Given the description of an element on the screen output the (x, y) to click on. 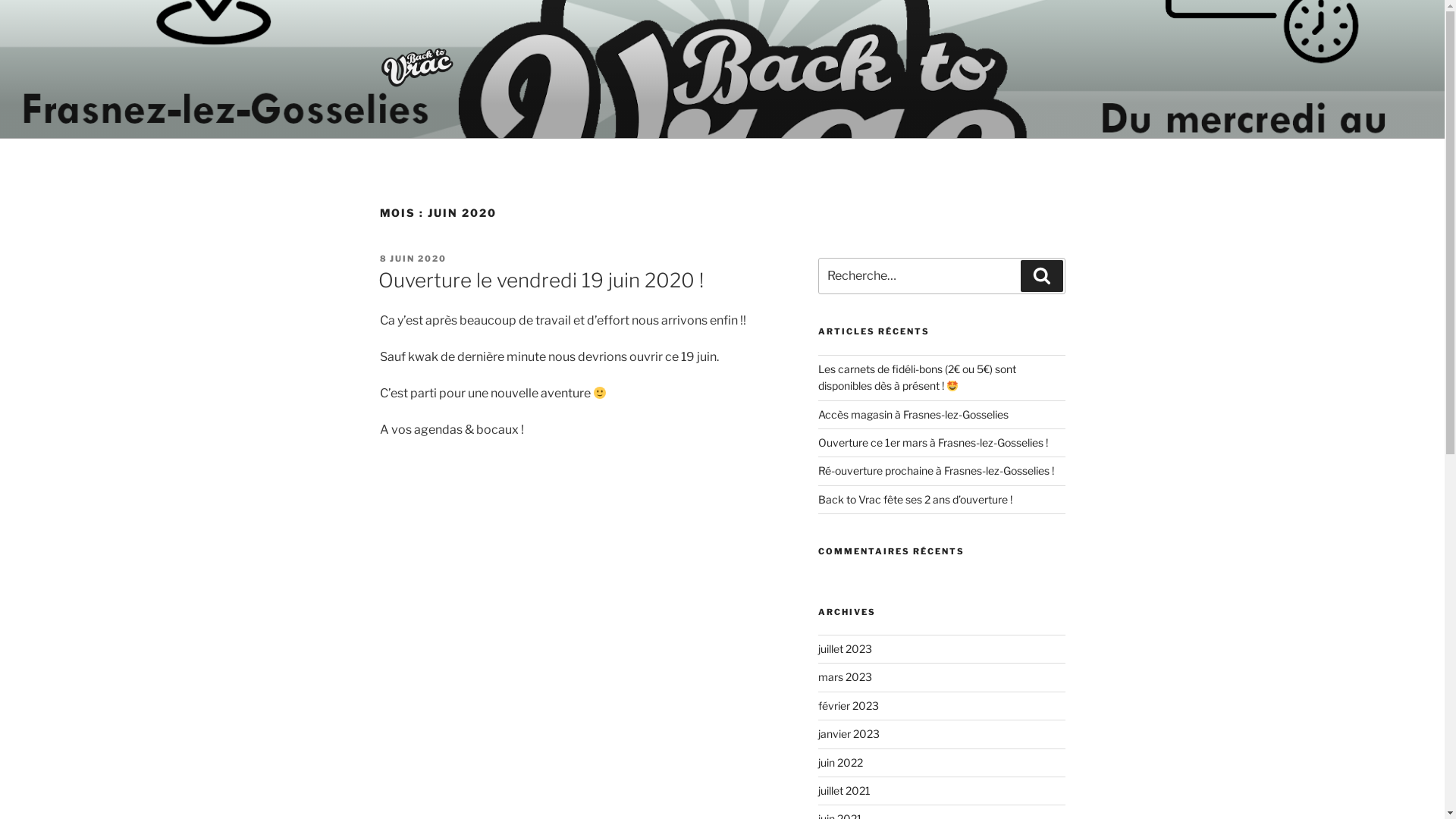
janvier 2023 Element type: text (848, 733)
Ouverture le vendredi 19 juin 2020 ! Element type: text (539, 279)
Recherche Element type: text (1041, 275)
8 JUIN 2020 Element type: text (412, 258)
mars 2023 Element type: text (845, 676)
juillet 2021 Element type: text (844, 790)
juin 2022 Element type: text (840, 762)
juillet 2023 Element type: text (845, 648)
